Given the description of an element on the screen output the (x, y) to click on. 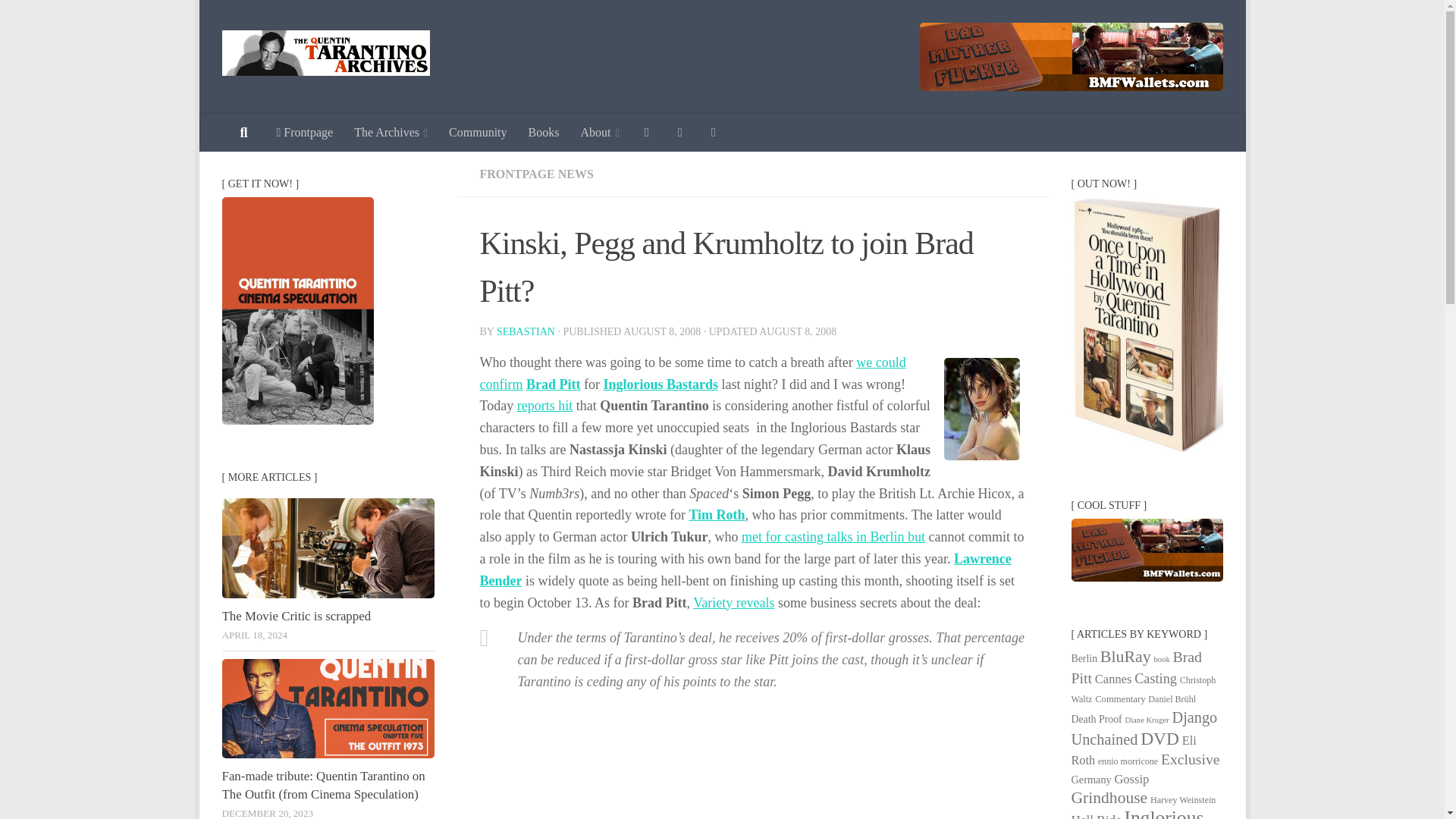
The Archives (390, 132)
SEBASTIAN (525, 331)
Books (544, 132)
Skip to content (258, 20)
FRONTPAGE NEWS (535, 173)
we could confirm (692, 373)
Inglorious Bastards (659, 384)
Variety reveals (733, 602)
Home (303, 132)
reports hit (544, 405)
met for casting talks in Berlin but (832, 536)
Brad Pitt (552, 384)
About (598, 132)
Frontpage (303, 132)
Community (477, 132)
